Given the description of an element on the screen output the (x, y) to click on. 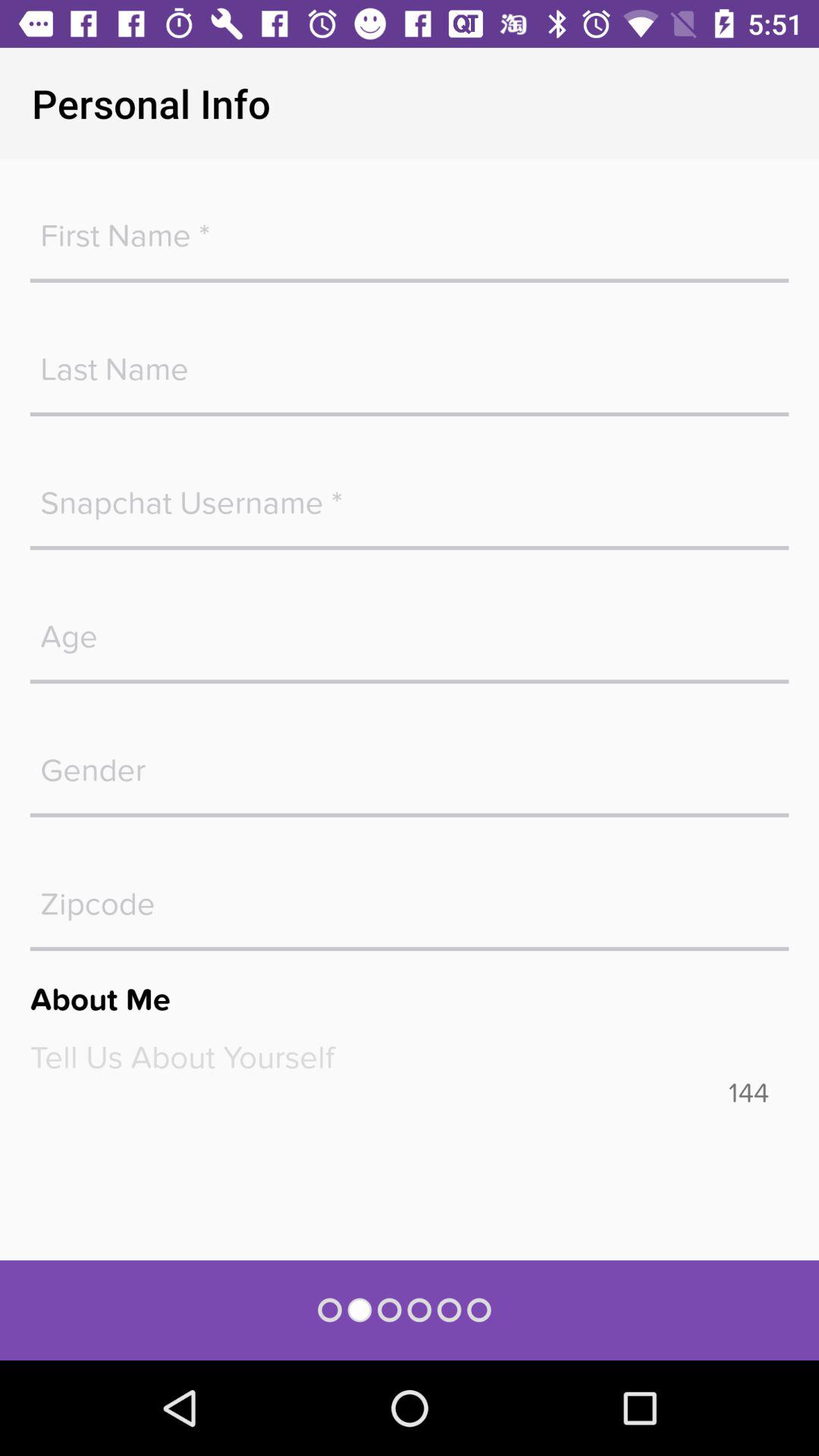
enter age (409, 628)
